Given the description of an element on the screen output the (x, y) to click on. 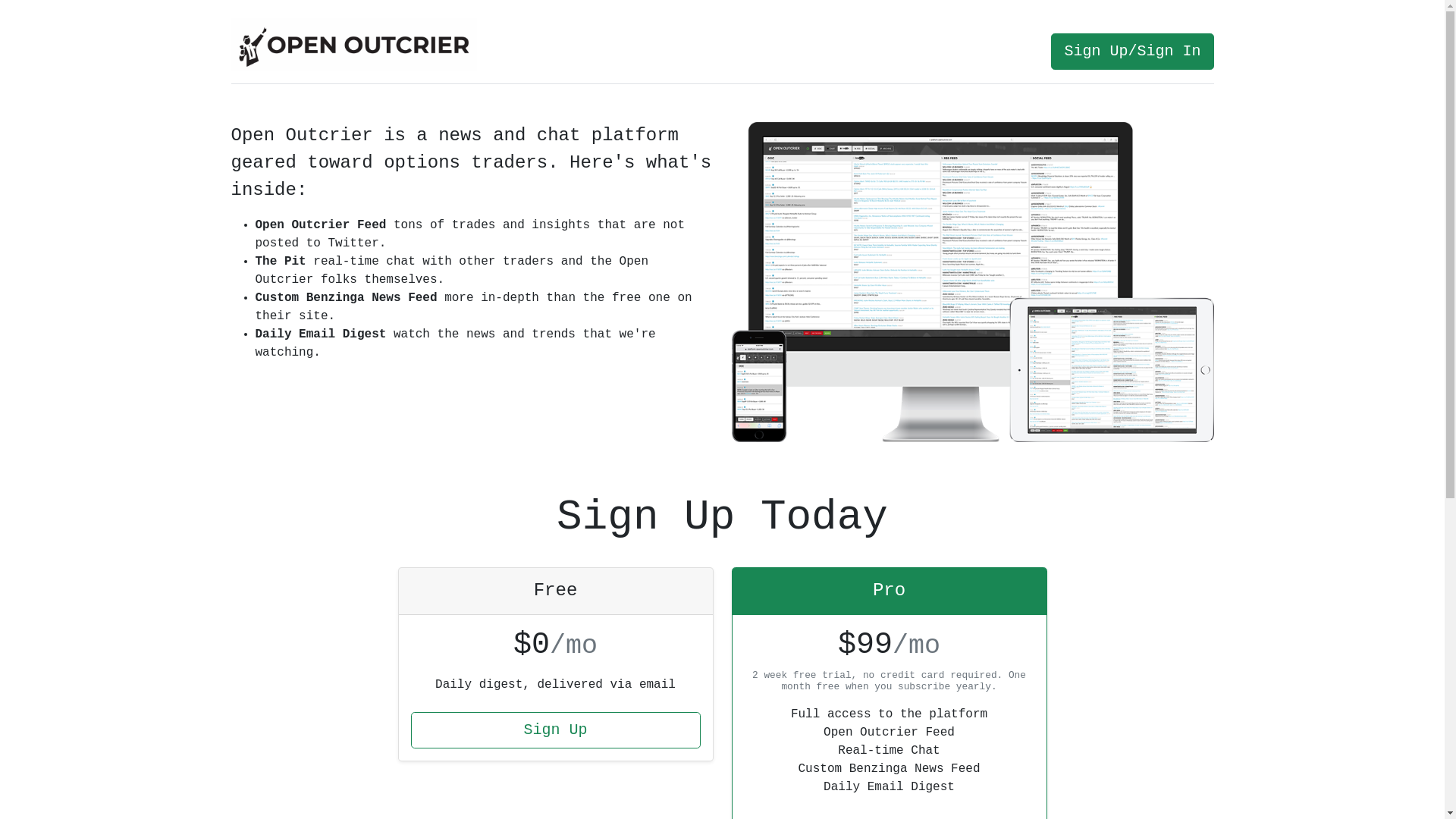
Sign Up Element type: text (555, 730)
Sign Up/Sign In Element type: text (1132, 51)
